Given the description of an element on the screen output the (x, y) to click on. 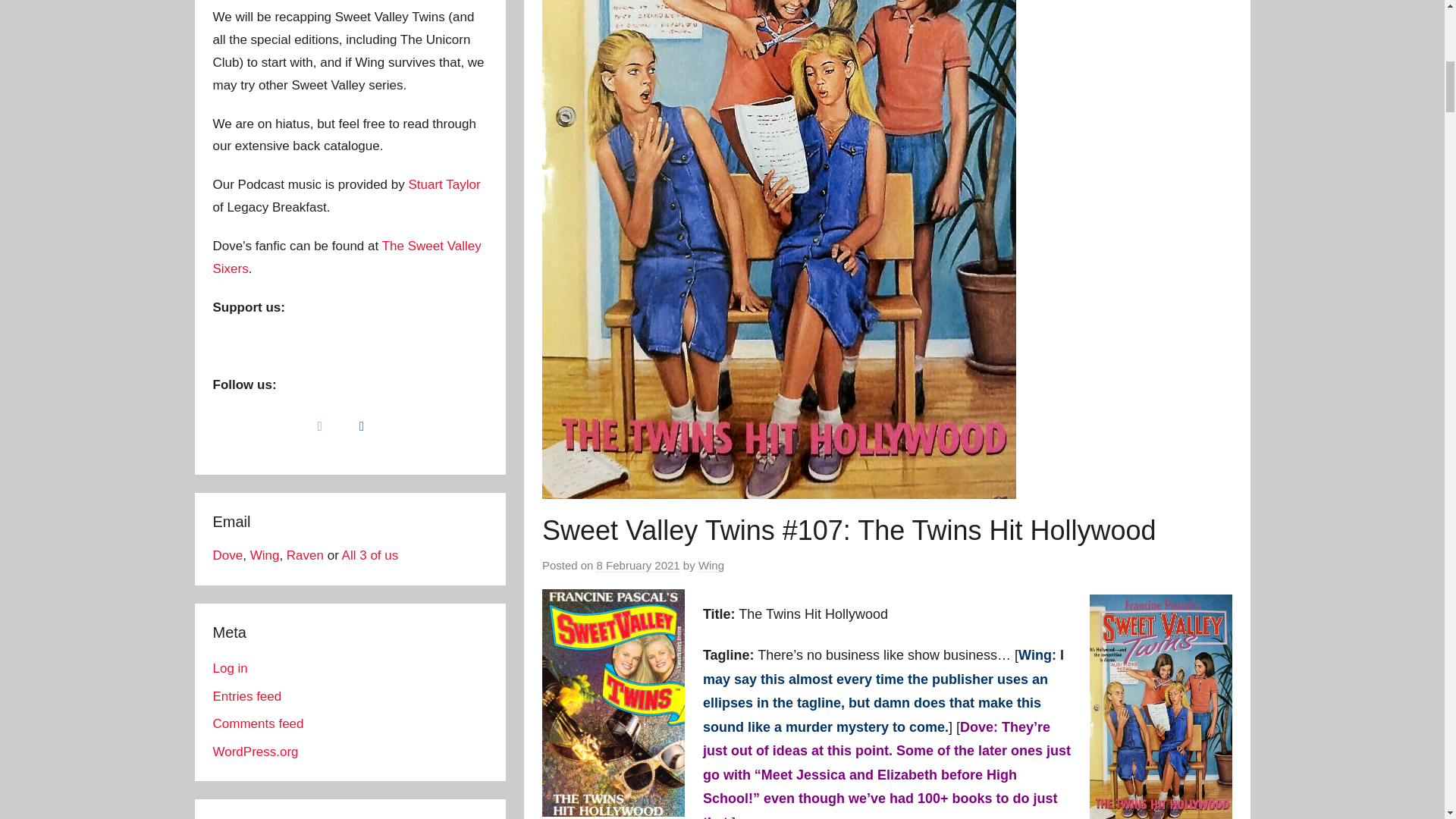
Wing (710, 565)
View all posts by Wing (710, 565)
8 February 2021 (637, 565)
